Given the description of an element on the screen output the (x, y) to click on. 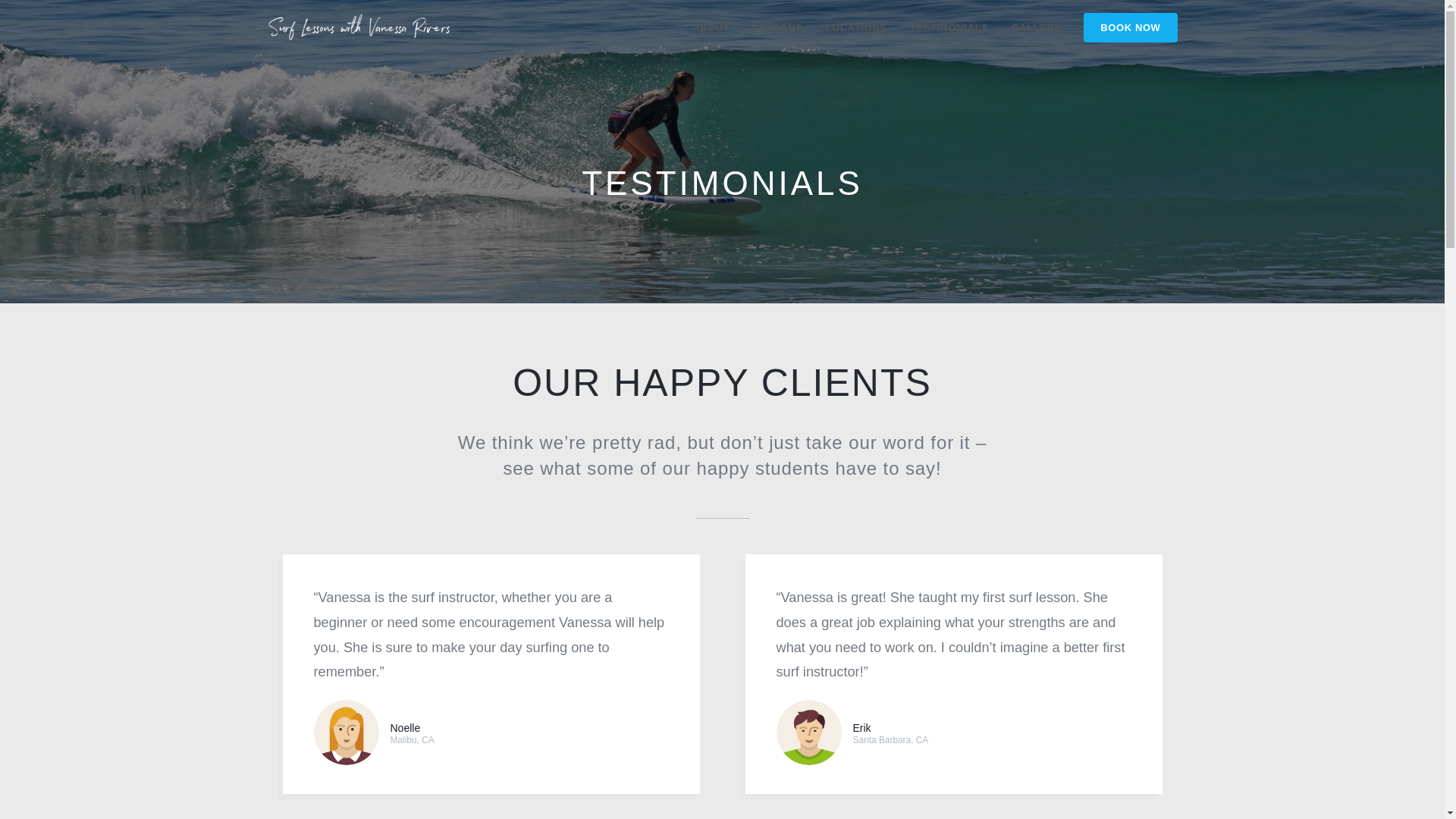
BOOK NOW (1129, 28)
ABOUT (711, 28)
TESTIMONIALS (948, 28)
LOCATIONS (855, 28)
LESSONS (777, 28)
GALLERY (1034, 28)
